Given the description of an element on the screen output the (x, y) to click on. 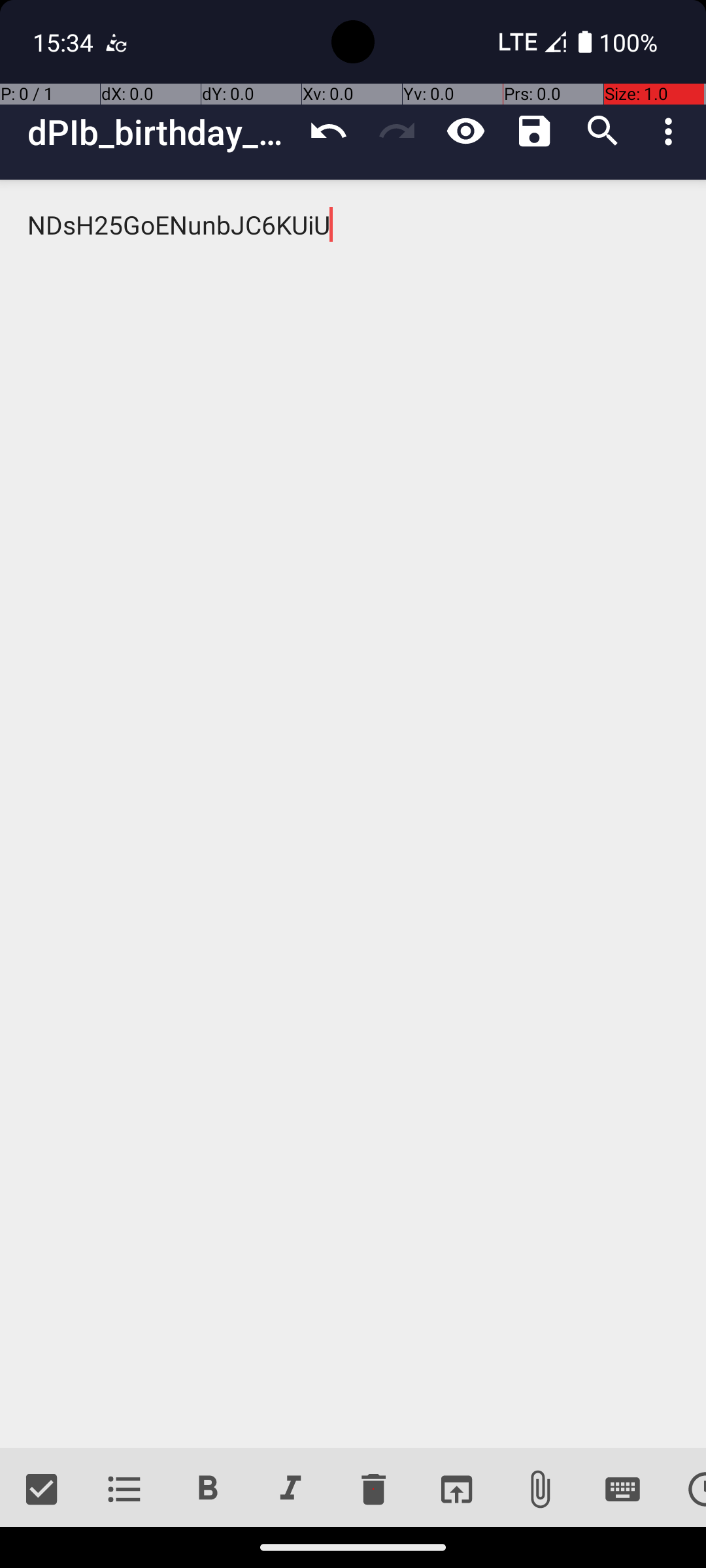
dPIb_birthday_gift_ideas_mom Element type: android.widget.TextView (160, 131)
NDsH25GoENunbJC6KUiU Element type: android.widget.EditText (353, 813)
